Given the description of an element on the screen output the (x, y) to click on. 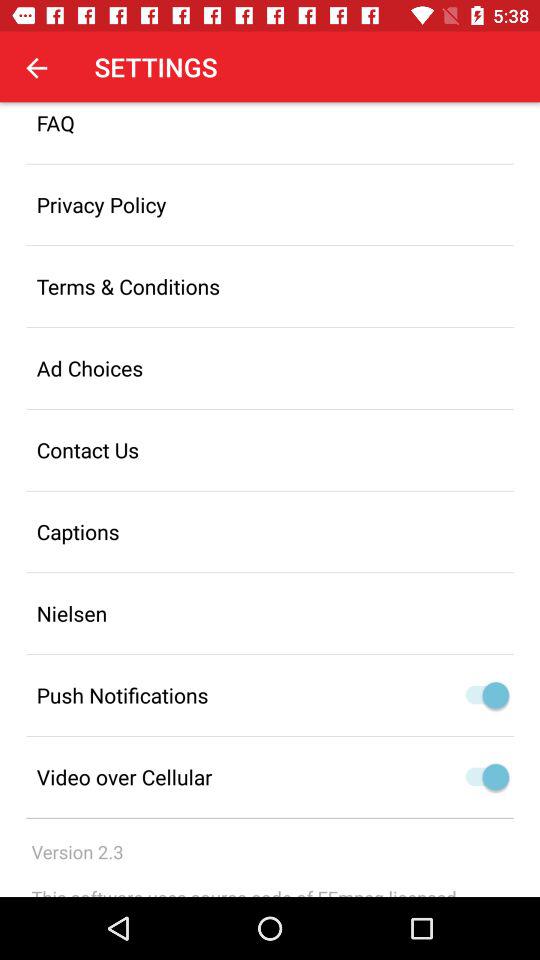
launch version 2.3 item (77, 851)
